Given the description of an element on the screen output the (x, y) to click on. 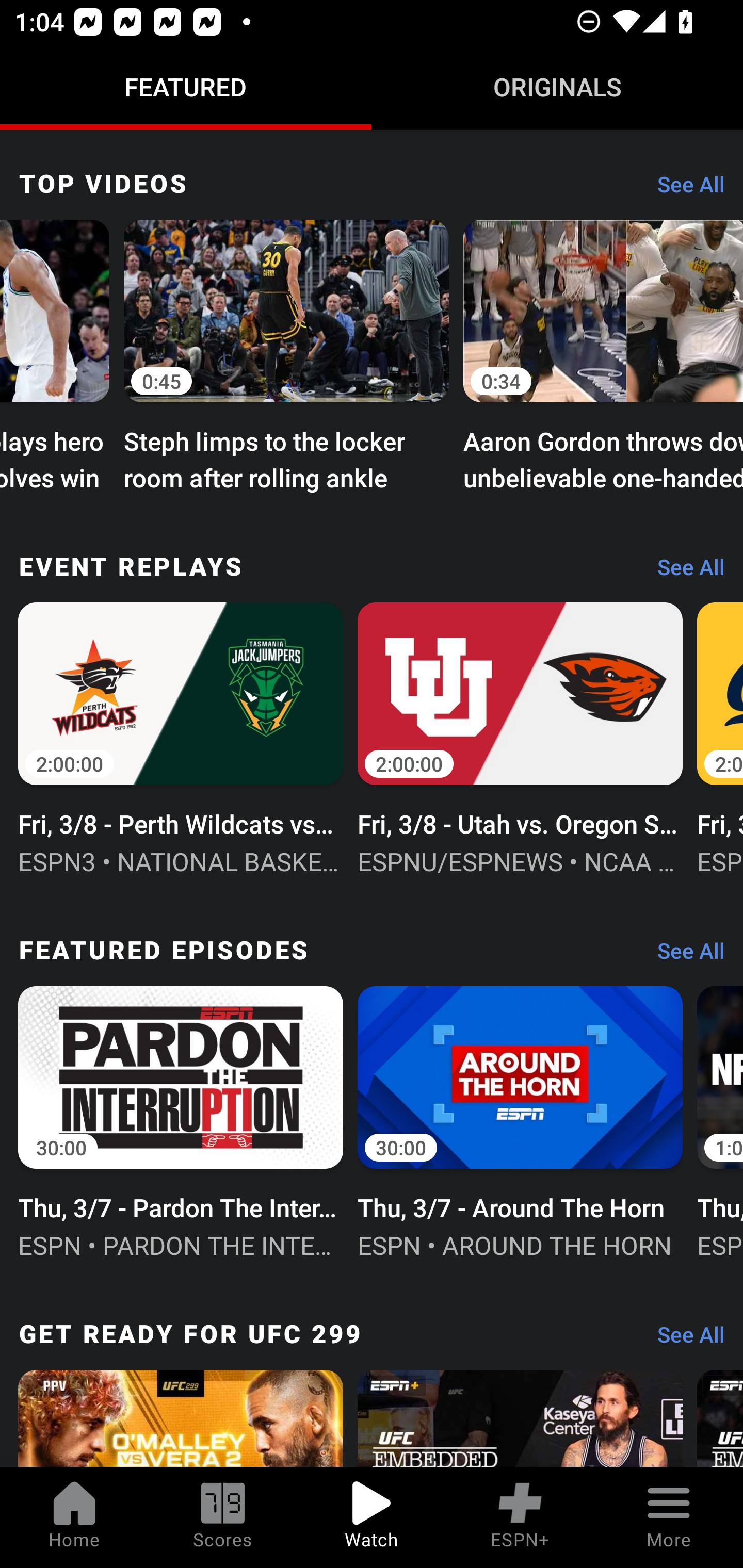
Originals ORIGINALS (557, 86)
See All (683, 189)
See All (683, 571)
See All (683, 955)
See All (683, 1338)
Home (74, 1517)
Scores (222, 1517)
ESPN+ (519, 1517)
More (668, 1517)
